Given the description of an element on the screen output the (x, y) to click on. 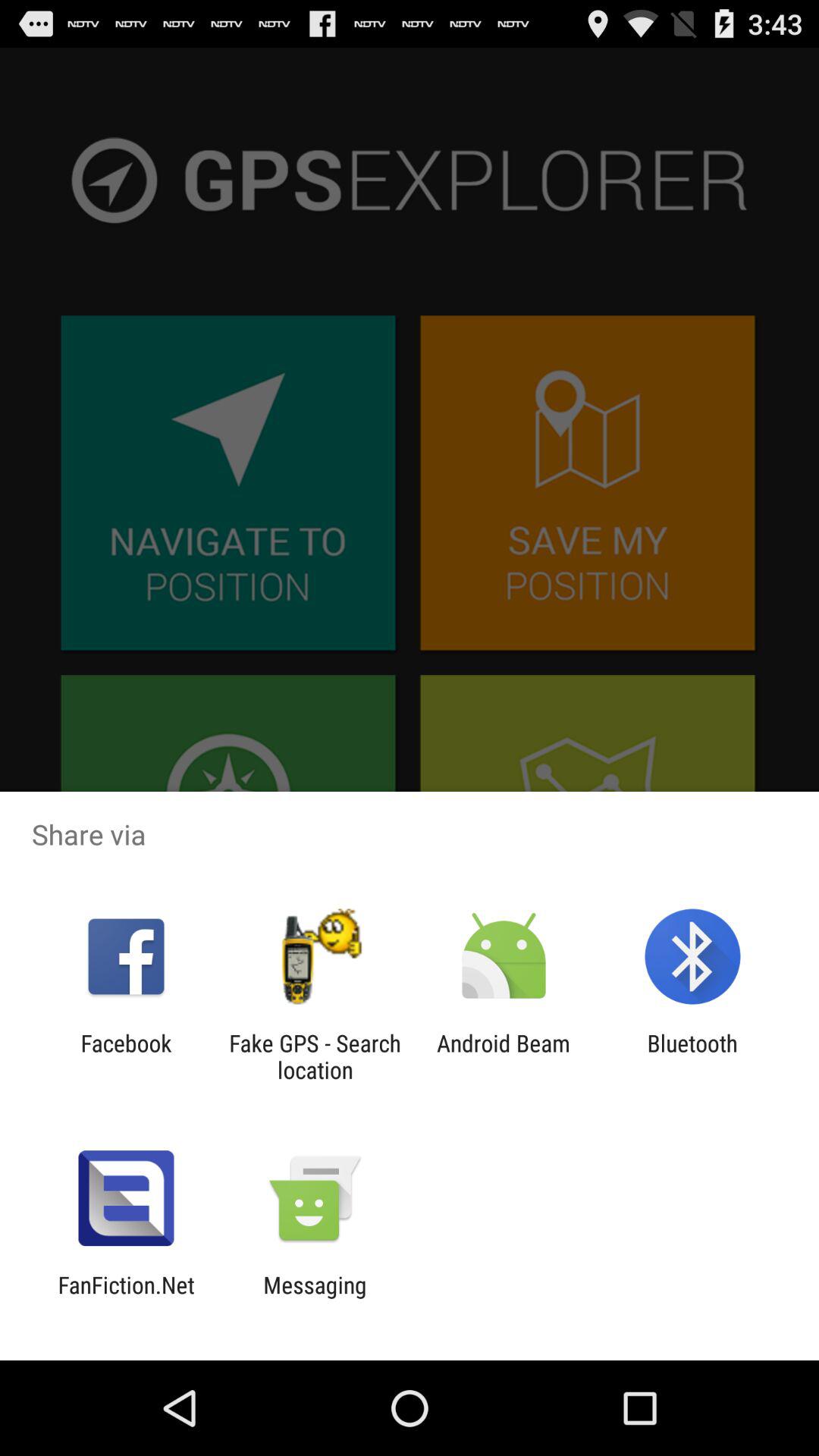
launch the item to the right of the fake gps search icon (503, 1056)
